Given the description of an element on the screen output the (x, y) to click on. 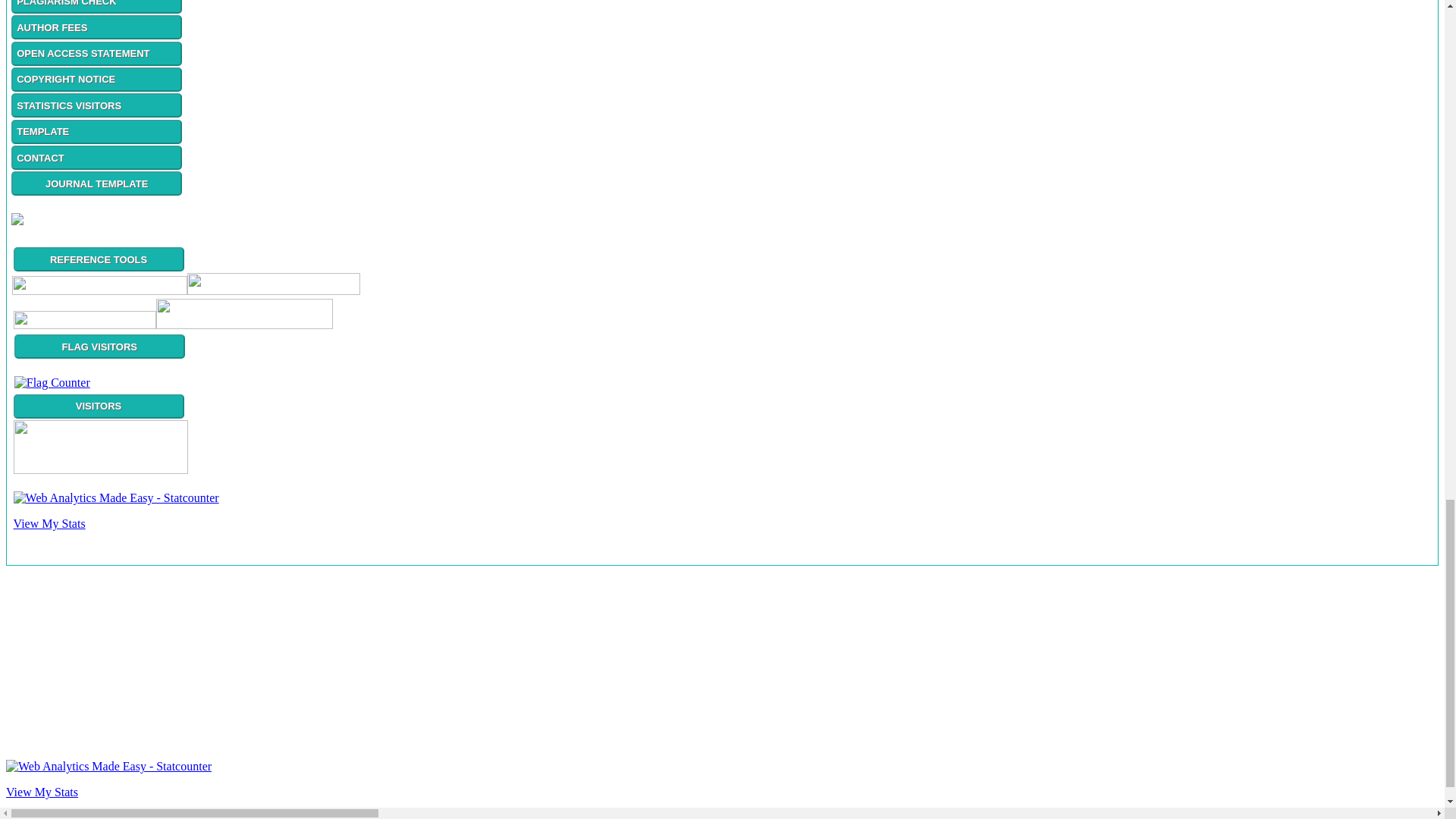
Web Analytics Made Easy - Statcounter (108, 766)
Web Analytics Made Easy - Statcounter (116, 497)
PLAGIARISM CHECK (96, 3)
